Given the description of an element on the screen output the (x, y) to click on. 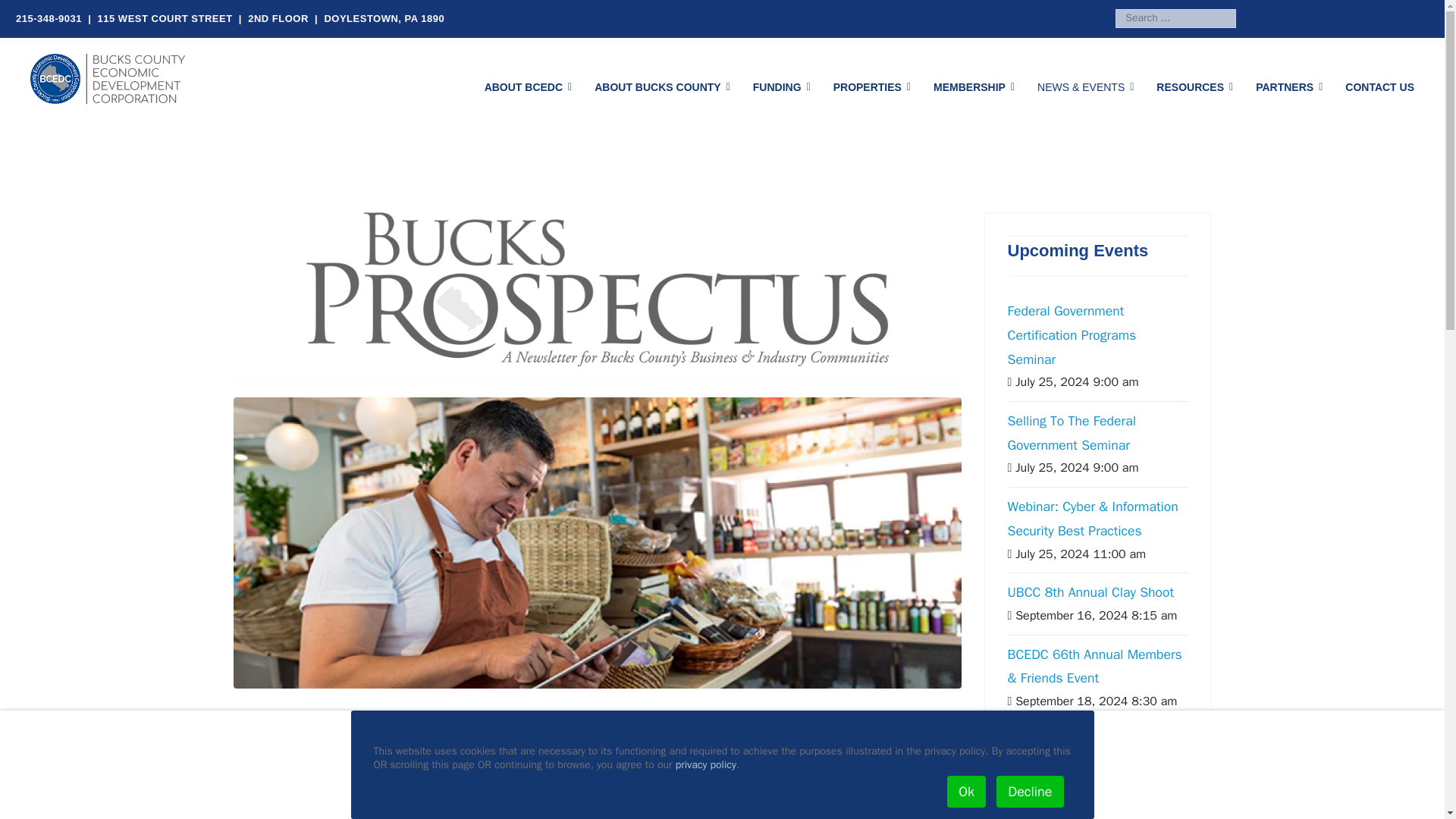
ABOUT BUCKS COUNTY (662, 87)
215-348-9031 (48, 18)
FUNDING (781, 87)
ABOUT BCEDC (528, 87)
